Given the description of an element on the screen output the (x, y) to click on. 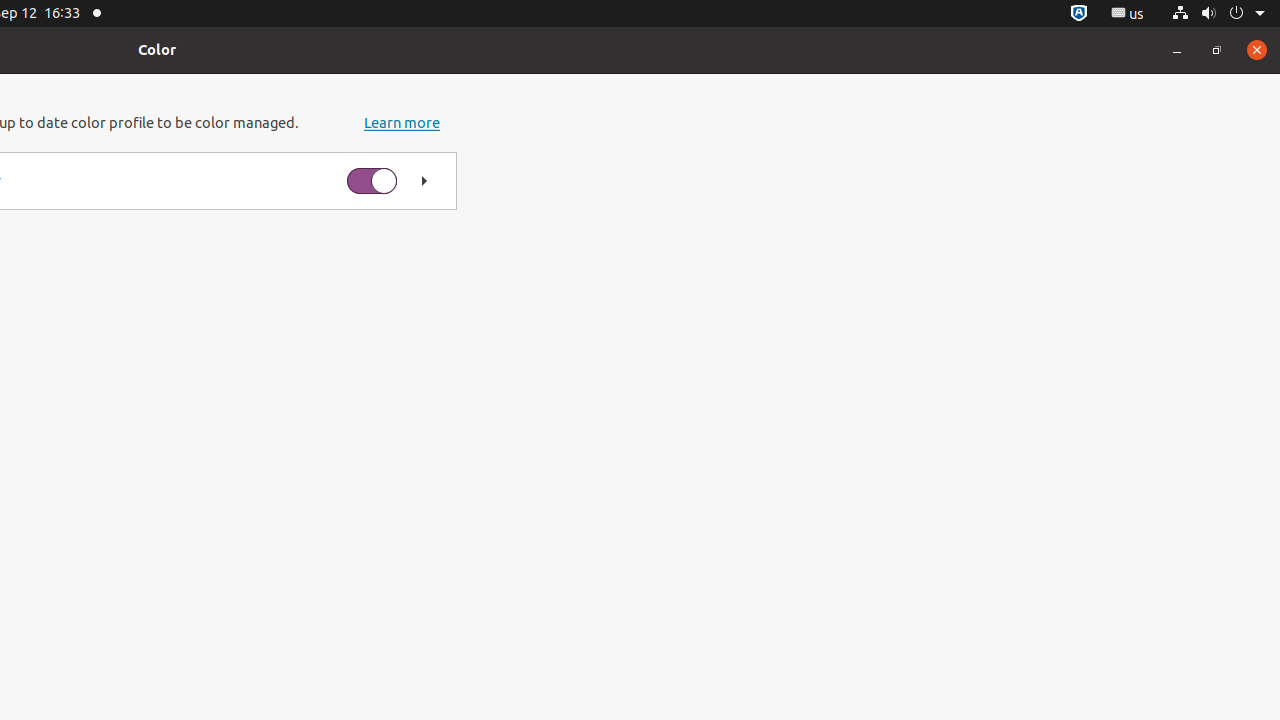
Show color profiles for Q2790PQ Monitor Element type: push-button (424, 181)
Enable color management for Q2790PQ Monitor Element type: toggle-button (372, 181)
Learn more Element type: push-button (402, 123)
Close Element type: push-button (1257, 50)
